Given the description of an element on the screen output the (x, y) to click on. 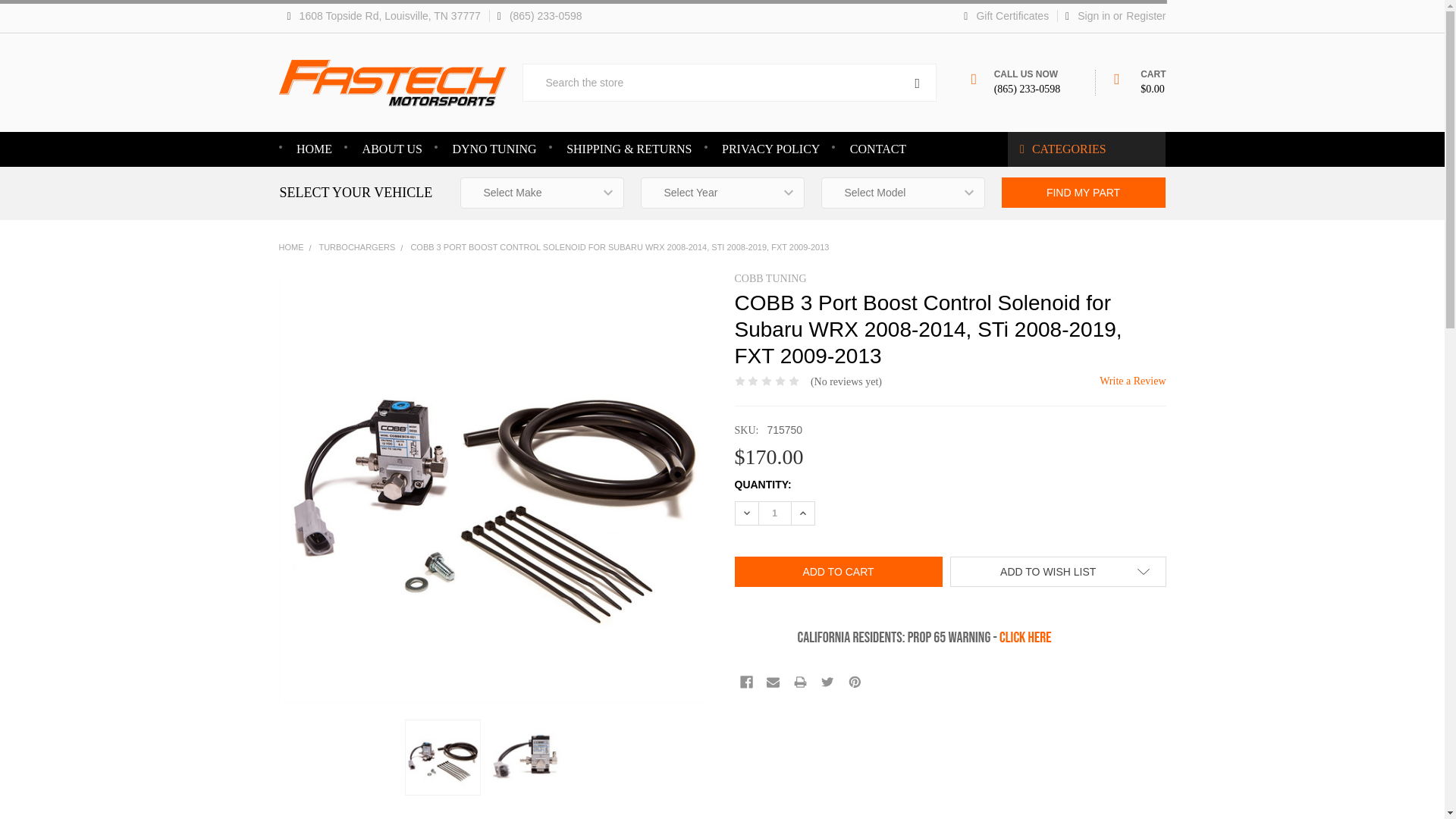
HOME (313, 149)
Search (917, 82)
Write a Review (1132, 380)
1 (774, 512)
Find my part (1082, 192)
Add to Cart (837, 571)
Find my part (1082, 192)
Gift Certificates (1006, 16)
